Given the description of an element on the screen output the (x, y) to click on. 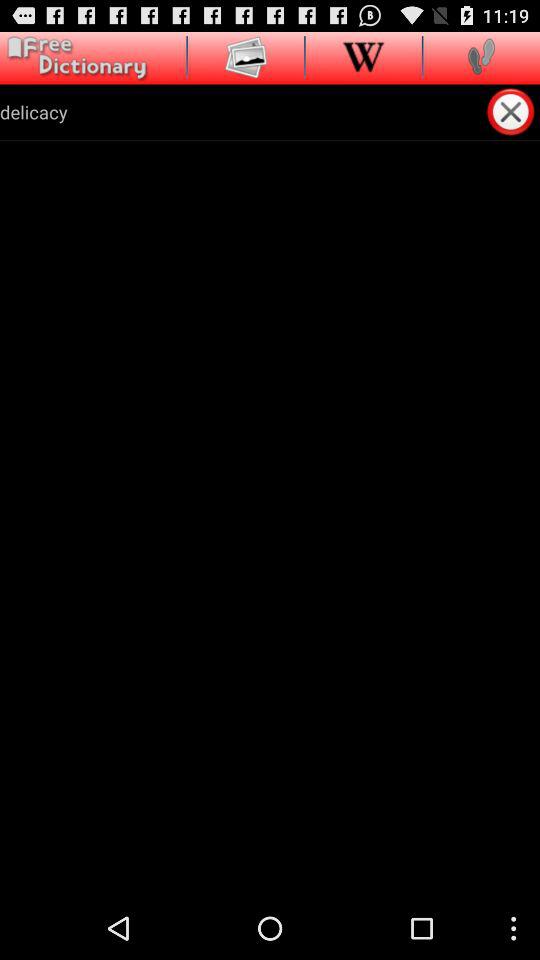
images (246, 56)
